Given the description of an element on the screen output the (x, y) to click on. 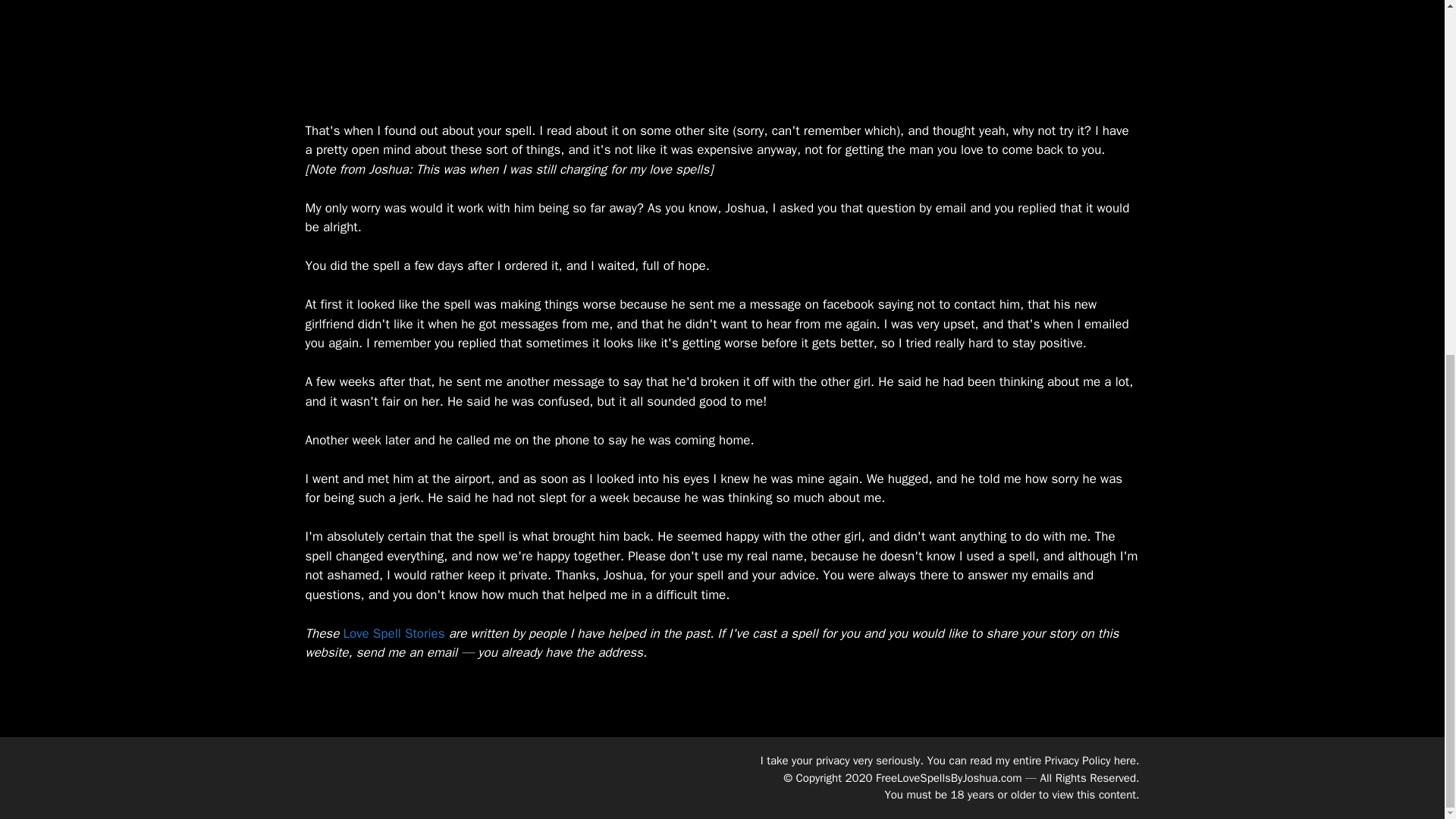
Privacy Policy here (1090, 760)
Love Spell Stories (393, 633)
Advertisement (721, 48)
